Given the description of an element on the screen output the (x, y) to click on. 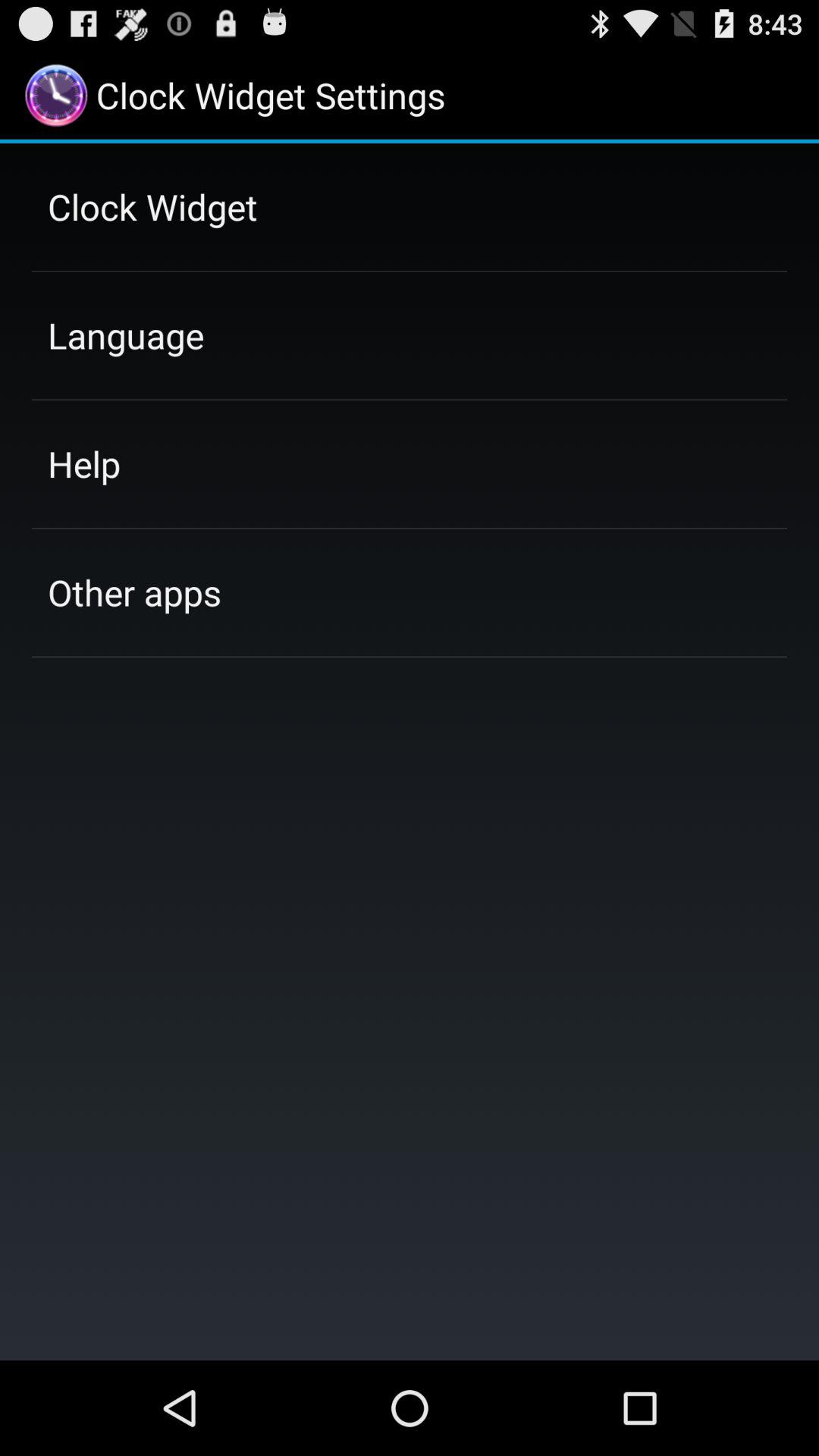
choose item above other apps app (83, 463)
